Given the description of an element on the screen output the (x, y) to click on. 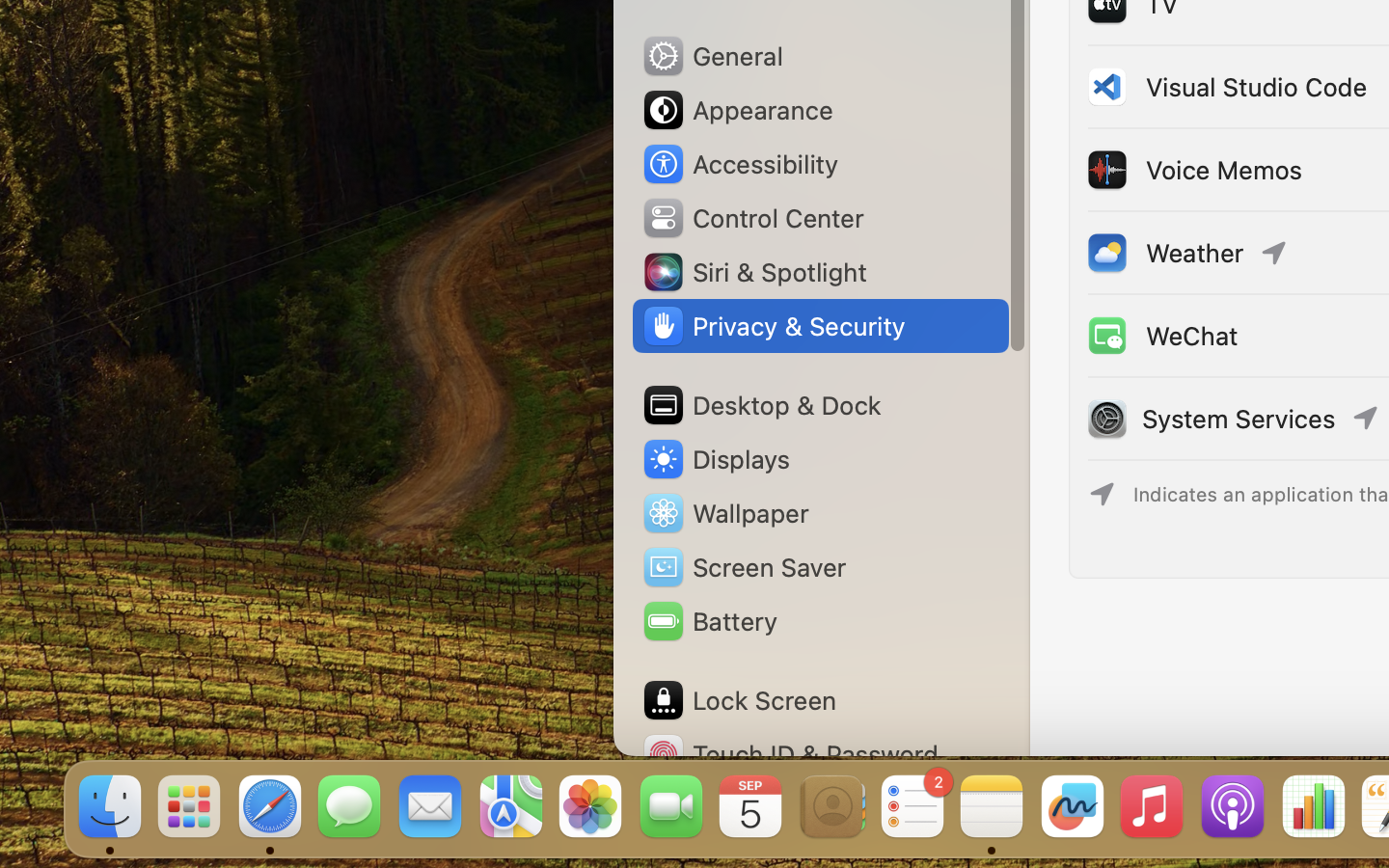
Desktop & Dock Element type: AXStaticText (760, 404)
System Services Element type: AXStaticText (1238, 418)
Screen Saver Element type: AXStaticText (743, 566)
Privacy & Security Element type: AXStaticText (772, 325)
Voice Memos Element type: AXStaticText (1193, 169)
